Given the description of an element on the screen output the (x, y) to click on. 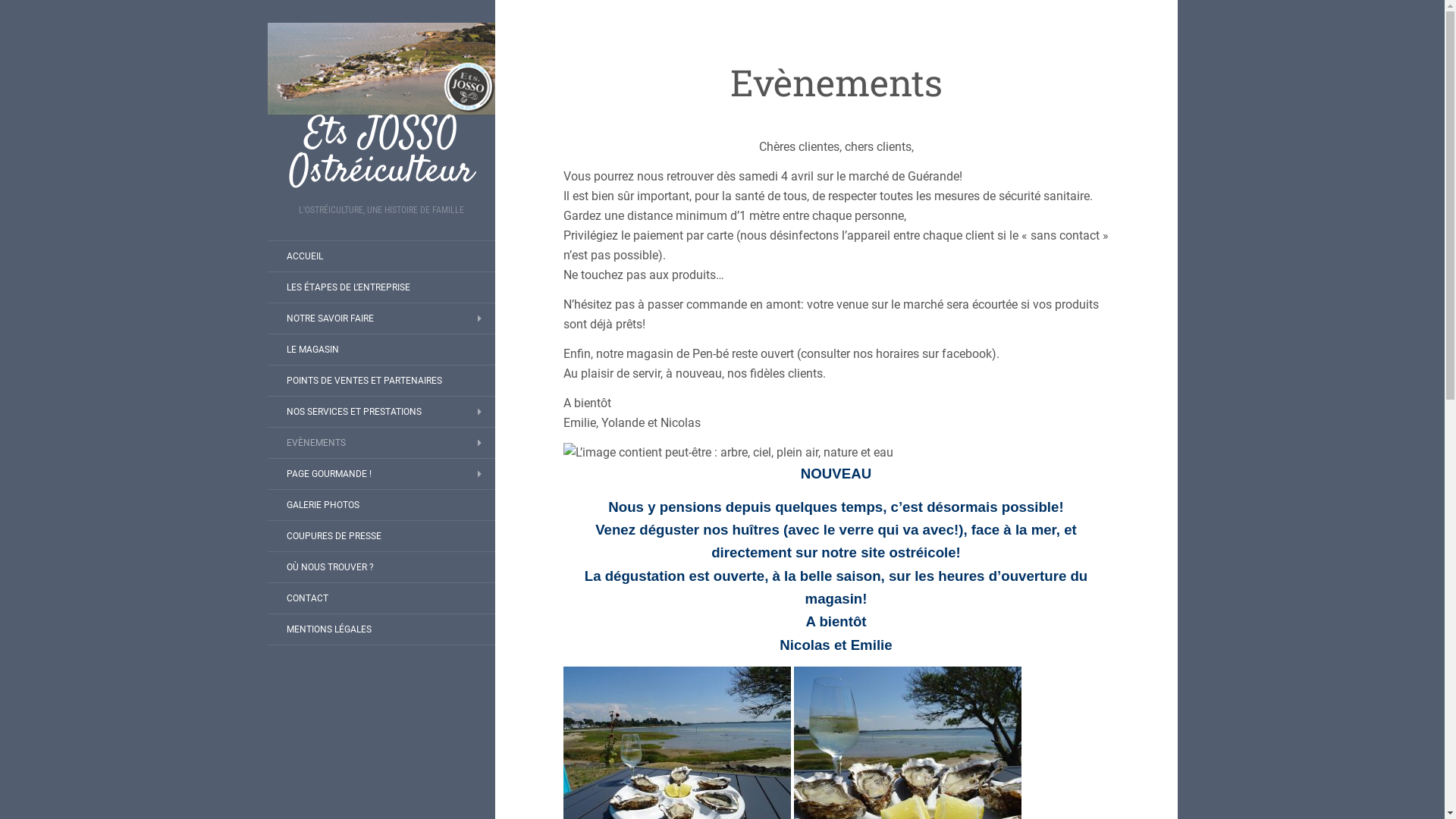
PAGE GOURMANDE ! Element type: text (327, 473)
NOTRE SAVOIR FAIRE Element type: text (329, 318)
ACCUEIL Element type: text (303, 256)
CONTACT Element type: text (306, 598)
POINTS DE VENTES ET PARTENAIRES Element type: text (363, 380)
NOS SERVICES ET PRESTATIONS Element type: text (352, 411)
LE MAGASIN Element type: text (311, 349)
COUPURES DE PRESSE Element type: text (332, 536)
GALERIE PHOTOS Element type: text (321, 504)
